Given the description of an element on the screen output the (x, y) to click on. 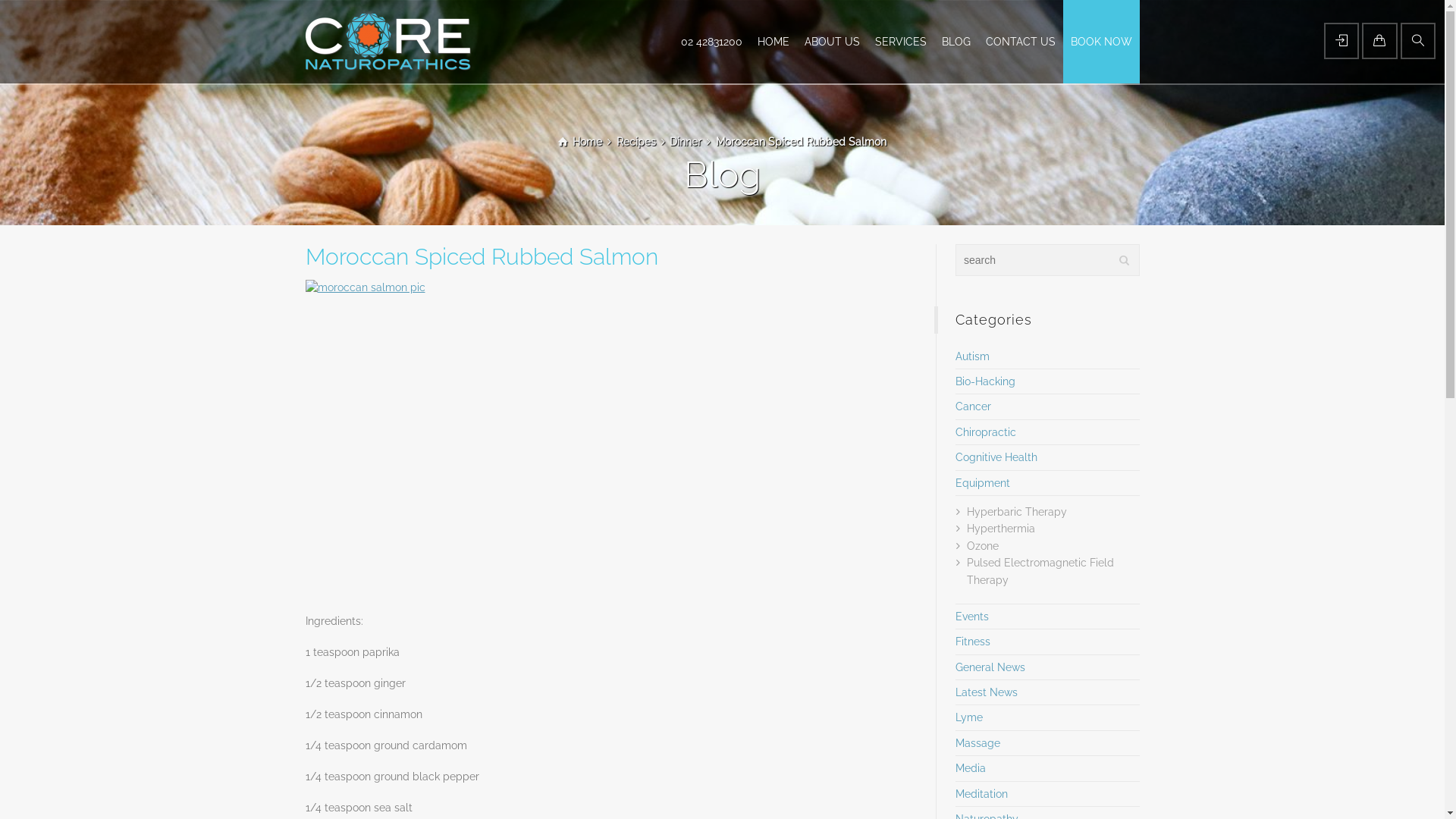
Cognitive Health Element type: text (996, 457)
Massage Element type: text (977, 743)
Autism Element type: text (972, 356)
BOOK NOW Element type: text (1101, 41)
Recipes Element type: text (635, 141)
Chiropractic Element type: text (985, 432)
02 42831200 Element type: text (711, 41)
Home Element type: text (580, 141)
Hyperthermia Element type: text (1000, 528)
Ozone Element type: text (982, 545)
Hyperbaric Therapy Element type: text (1016, 511)
Search Element type: hover (1418, 40)
Equipment Element type: text (982, 482)
HOME Element type: text (772, 41)
Dinner Element type: text (685, 141)
Meditation Element type: text (981, 793)
General News Element type: text (990, 667)
Bio-Hacking Element type: text (985, 381)
Cart Element type: hover (1379, 40)
Events Element type: text (971, 616)
Login Element type: hover (1341, 40)
Core Naturopathics Element type: hover (387, 41)
BLOG Element type: text (956, 41)
ABOUT US Element type: text (831, 41)
Pulsed Electromagnetic Field Therapy Element type: text (1039, 570)
Media Element type: text (970, 768)
Cancer Element type: text (973, 406)
Fitness Element type: text (972, 641)
Lyme Element type: text (968, 717)
SERVICES Element type: text (900, 41)
CONTACT US Element type: text (1020, 41)
Latest News Element type: text (986, 692)
